Given the description of an element on the screen output the (x, y) to click on. 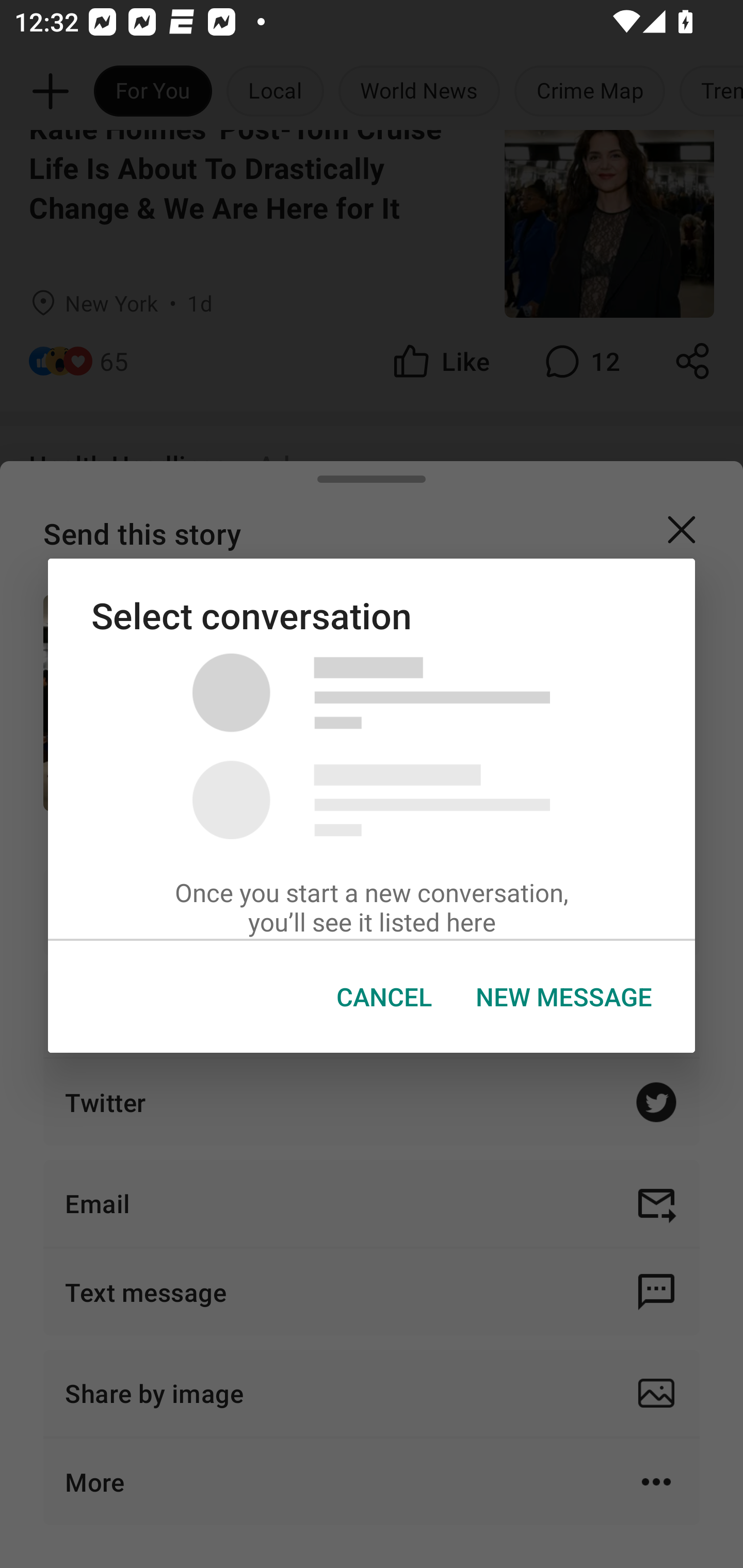
CANCEL (384, 996)
NEW MESSAGE (563, 996)
